Given the description of an element on the screen output the (x, y) to click on. 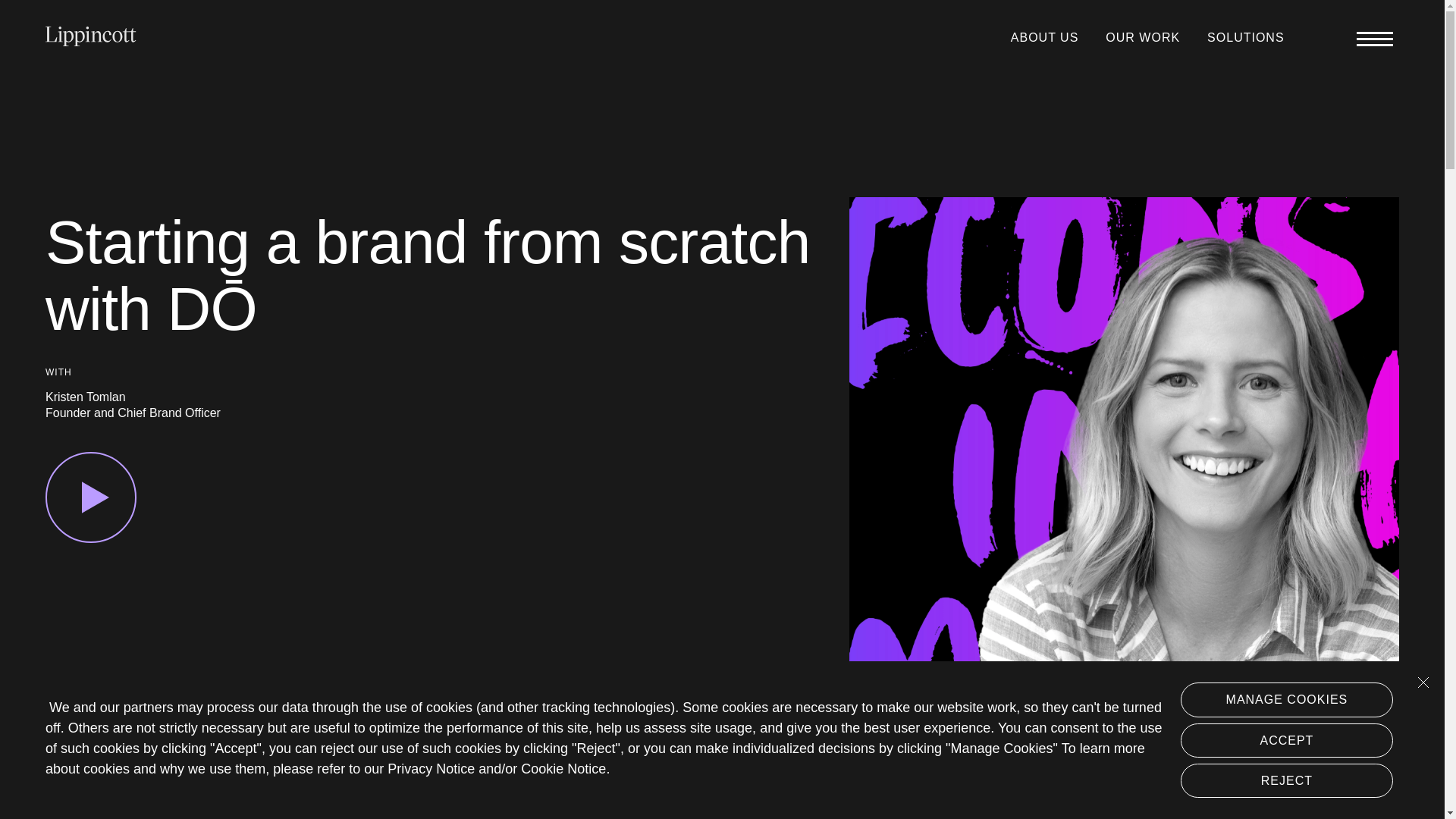
SOLUTIONS (1245, 37)
ABOUT US (1044, 37)
ACCEPT (1286, 740)
OUR WORK (1142, 37)
MANAGE COOKIES (1286, 699)
REJECT (1286, 780)
